Given the description of an element on the screen output the (x, y) to click on. 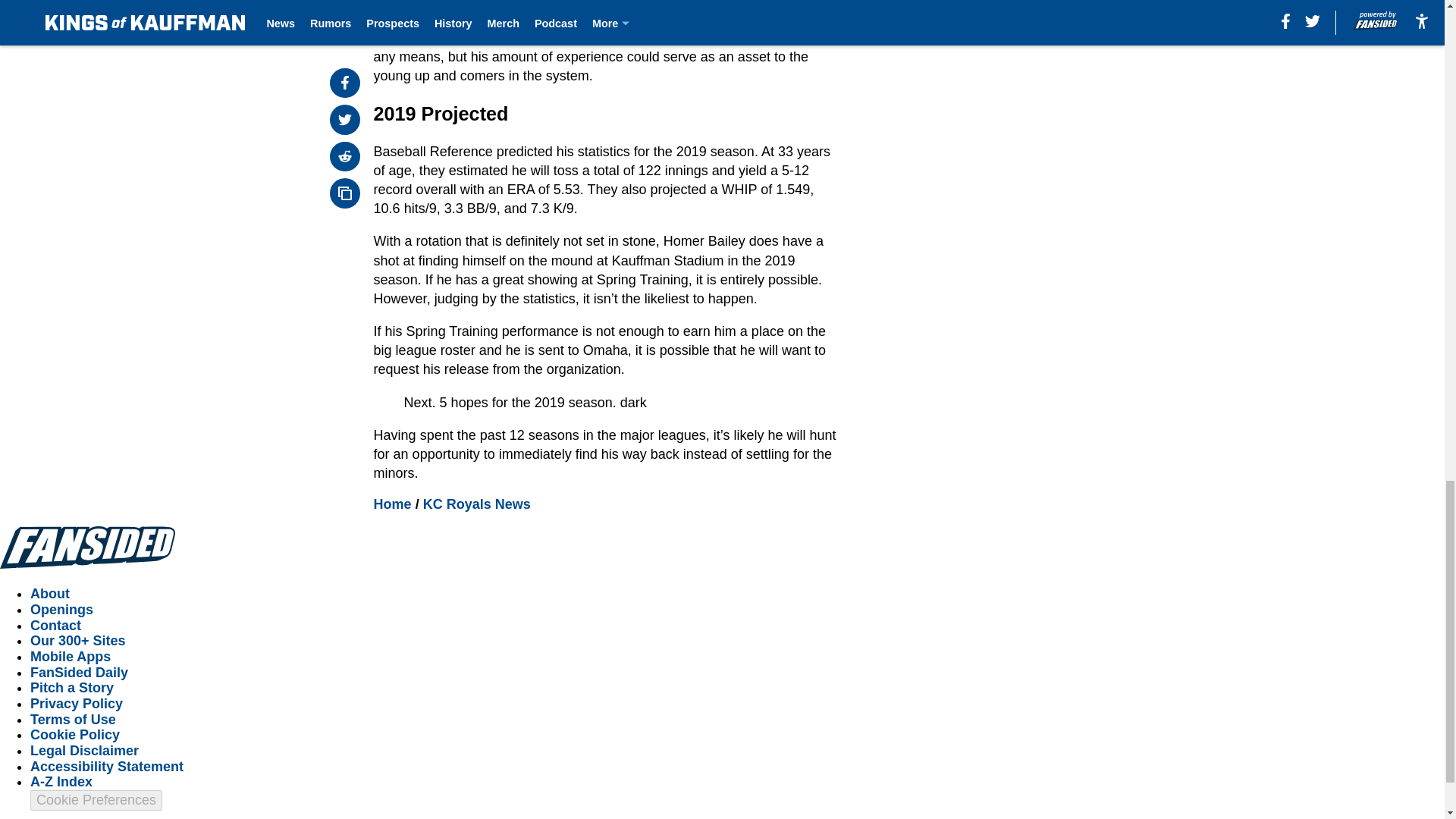
Home (393, 503)
KC Royals News (477, 503)
About (49, 593)
